Given the description of an element on the screen output the (x, y) to click on. 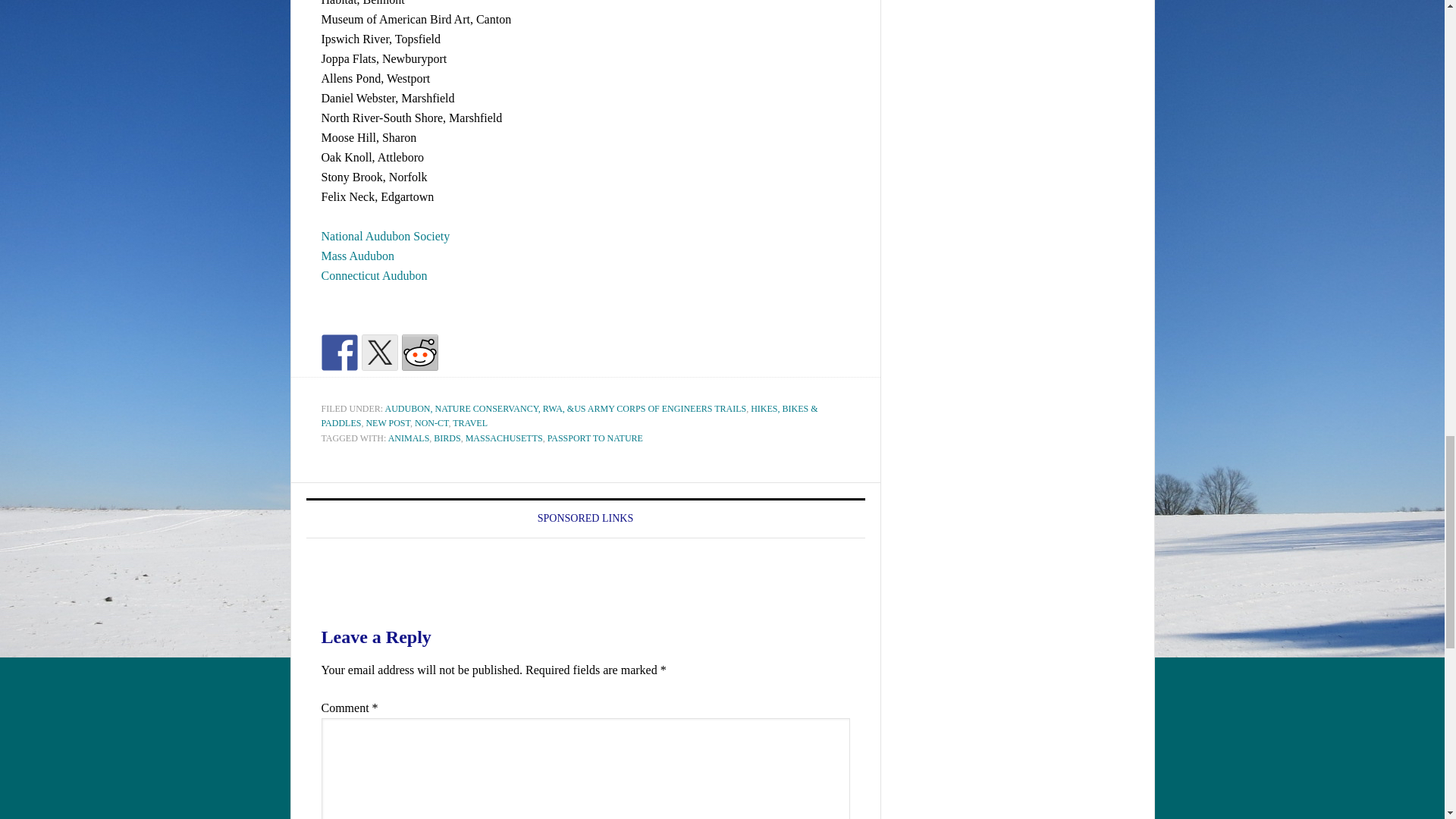
Share on Reddit (419, 352)
Share on Twitter (379, 352)
Share on Facebook (339, 352)
